Given the description of an element on the screen output the (x, y) to click on. 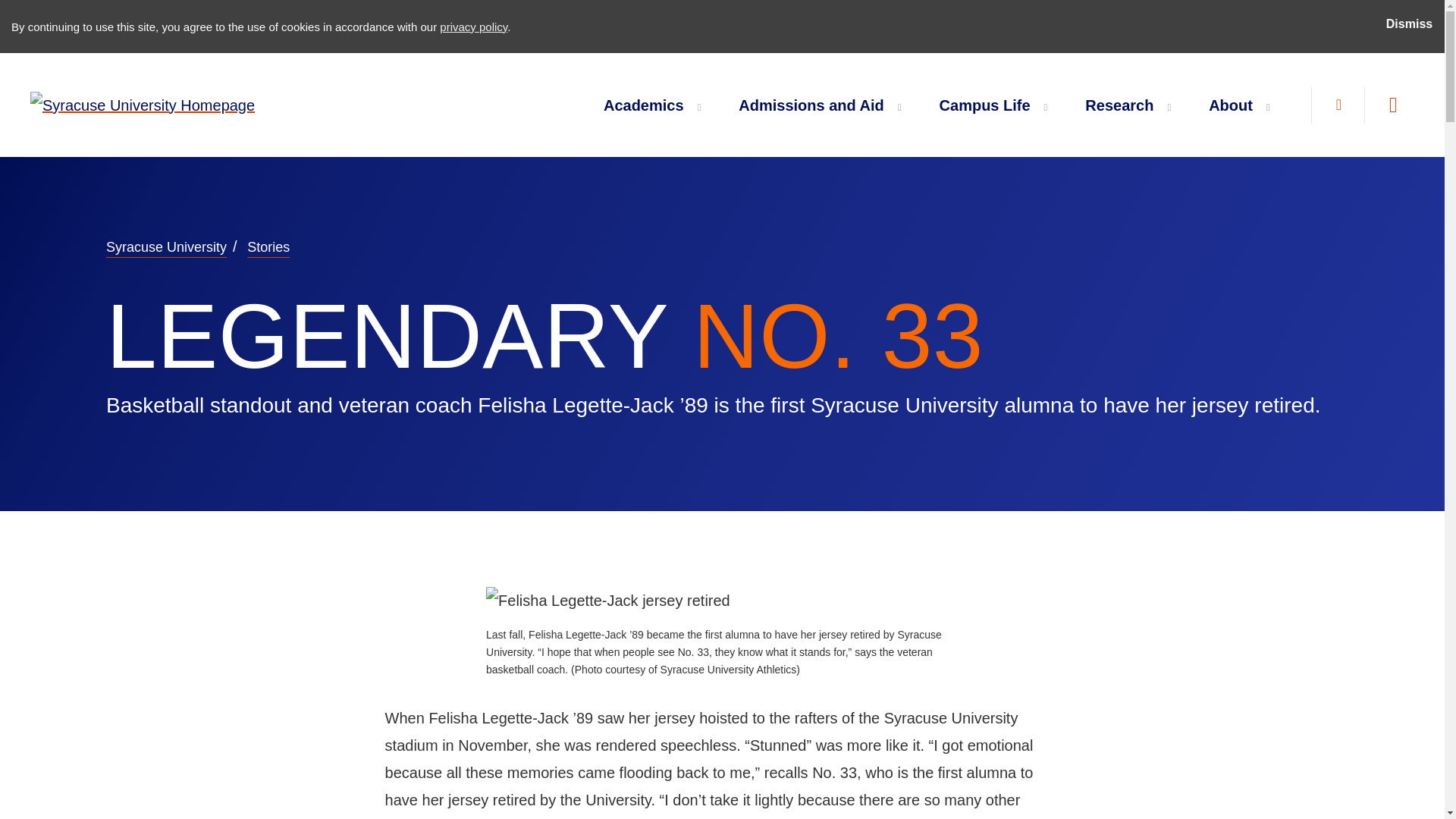
Dismiss (1409, 26)
Admissions and Aid (813, 103)
Research (1121, 103)
Academics (647, 103)
privacy policy (472, 25)
Campus Life (987, 103)
